Given the description of an element on the screen output the (x, y) to click on. 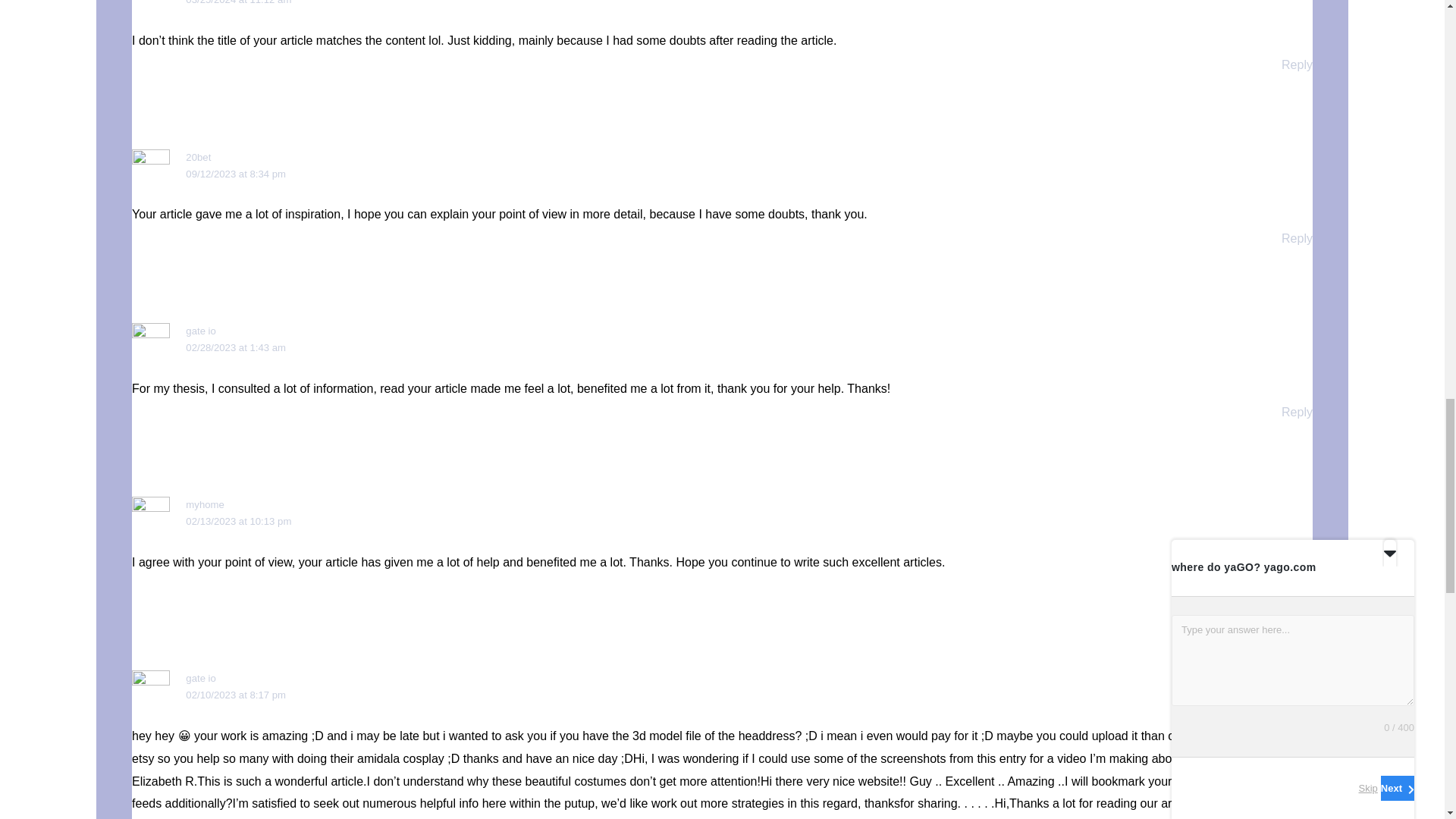
gate io (200, 330)
Reply (1297, 64)
20bet (198, 156)
Reply (1297, 585)
Reply (1297, 237)
Reply (1297, 411)
gate io (200, 677)
myhome (205, 504)
